Given the description of an element on the screen output the (x, y) to click on. 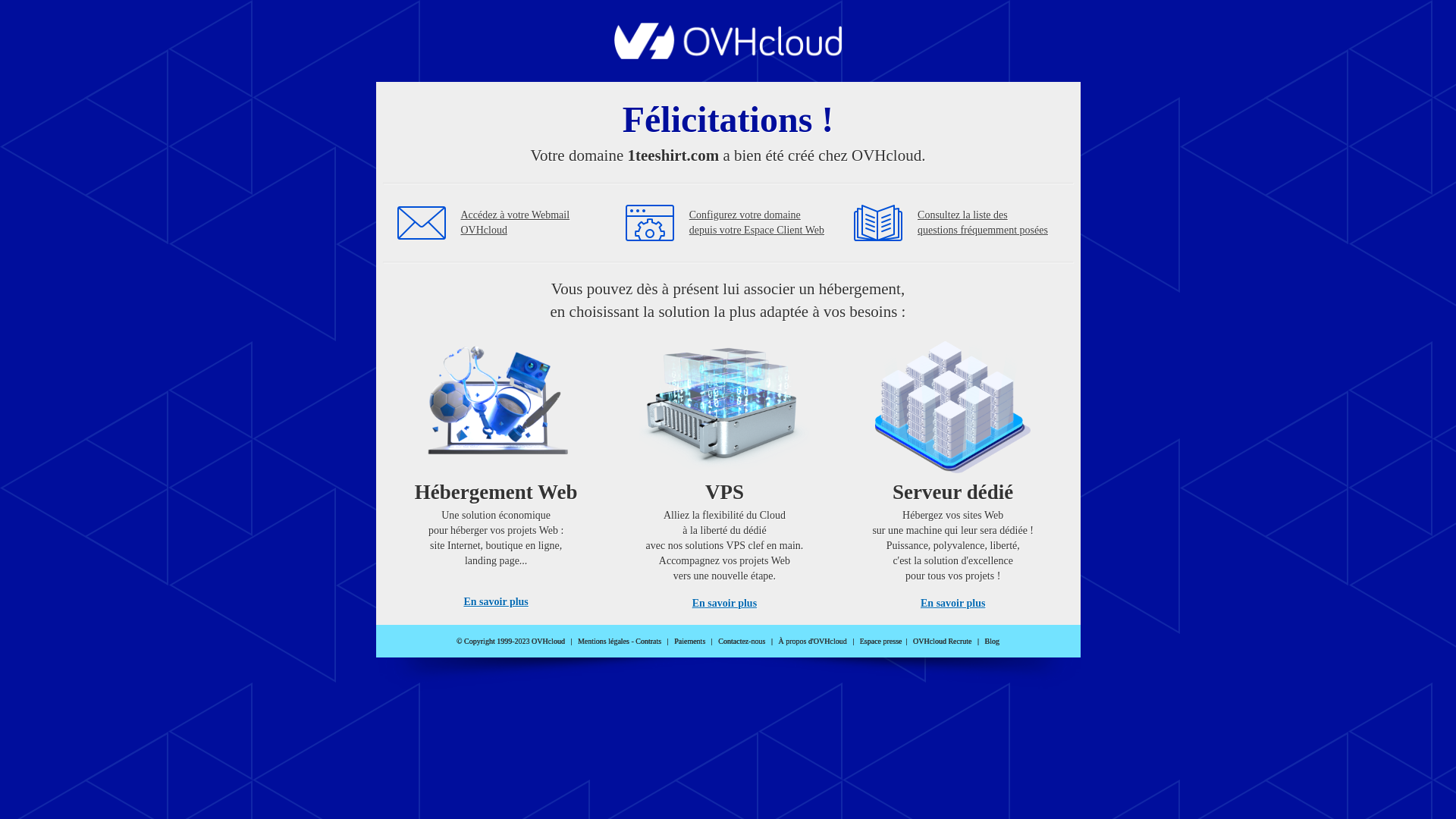
Contactez-nous Element type: text (741, 641)
Paiements Element type: text (689, 641)
En savoir plus Element type: text (952, 602)
OVHcloud Element type: hover (727, 54)
OVHcloud Recrute Element type: text (942, 641)
VPS Element type: hover (724, 469)
Blog Element type: text (992, 641)
Configurez votre domaine
depuis votre Espace Client Web Element type: text (756, 222)
En savoir plus Element type: text (495, 601)
En savoir plus Element type: text (724, 602)
Espace presse Element type: text (880, 641)
